Given the description of an element on the screen output the (x, y) to click on. 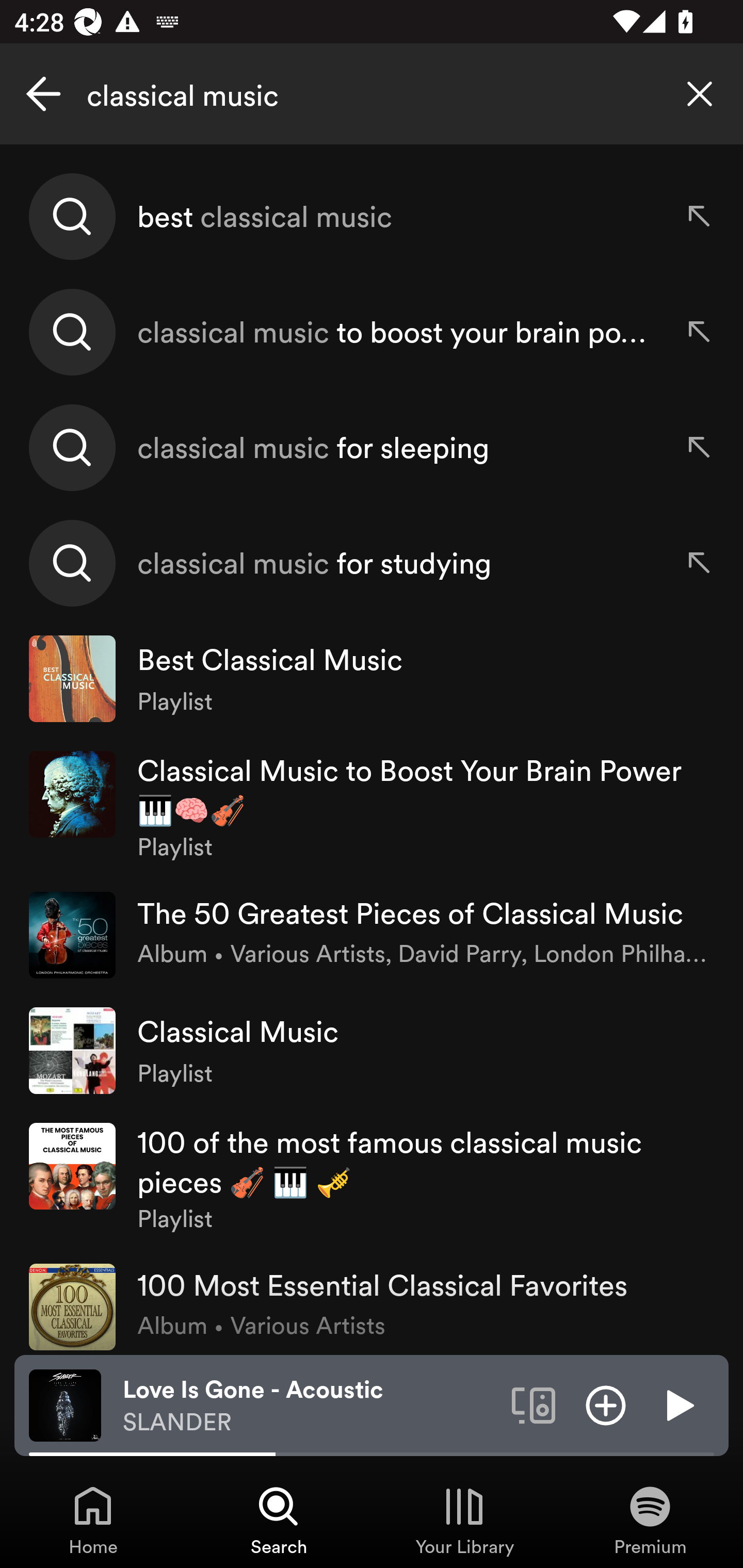
classical music (371, 93)
Cancel (43, 93)
Clear search query (699, 93)
best classical music (371, 216)
classical music to boost your brain power (371, 332)
classical music for sleeping (371, 447)
classical music for studying (371, 562)
Best Classical Music Playlist (371, 678)
Classical Music Playlist (371, 1050)
Love Is Gone - Acoustic SLANDER (309, 1405)
The cover art of the currently playing track (64, 1404)
Connect to a device. Opens the devices menu (533, 1404)
Add item (605, 1404)
Play (677, 1404)
Home, Tab 1 of 4 Home Home (92, 1519)
Search, Tab 2 of 4 Search Search (278, 1519)
Your Library, Tab 3 of 4 Your Library Your Library (464, 1519)
Premium, Tab 4 of 4 Premium Premium (650, 1519)
